Given the description of an element on the screen output the (x, y) to click on. 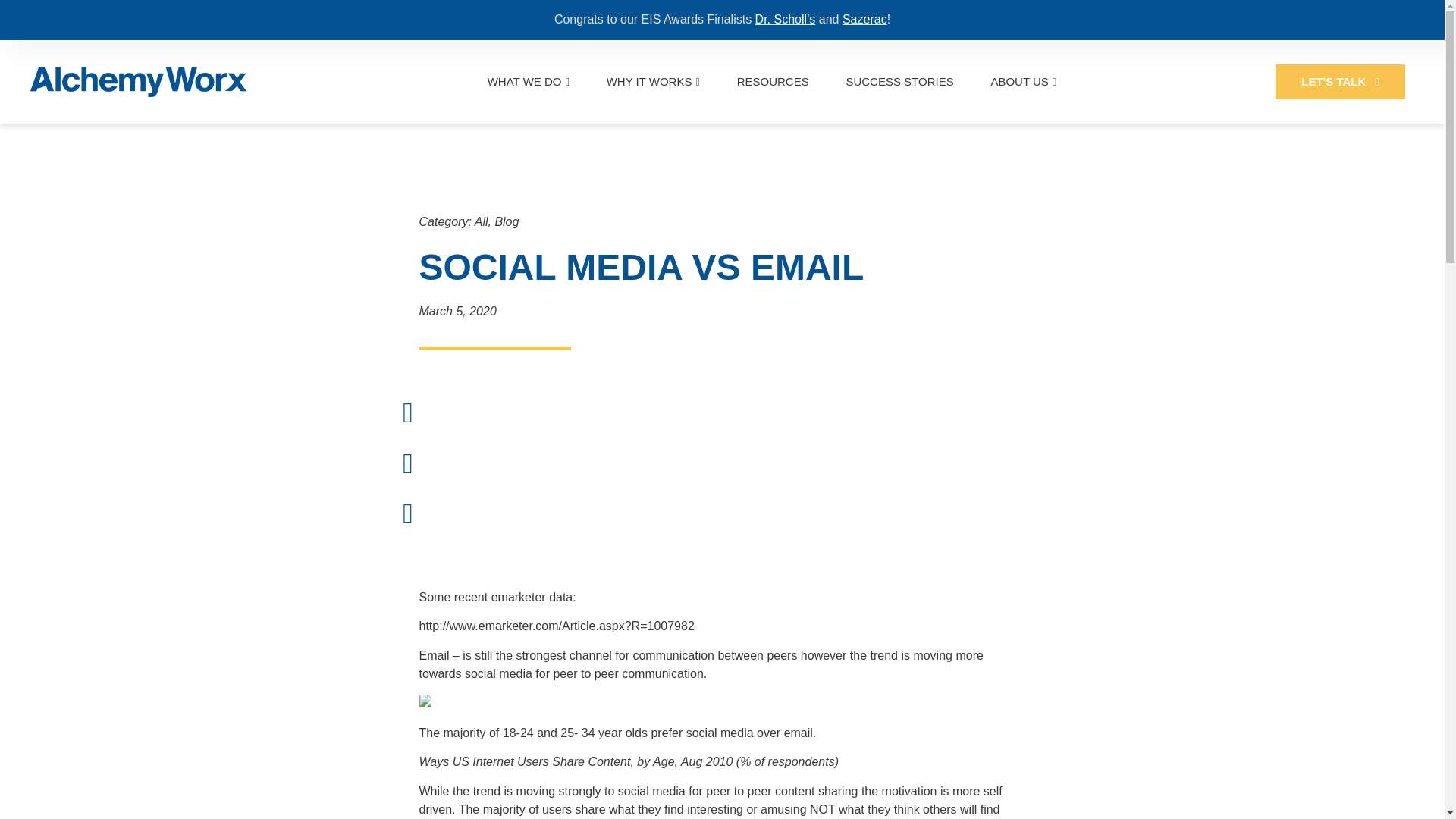
WHAT WE DO (528, 81)
WHY IT WORKS (653, 81)
ABOUT US (1023, 81)
Sazerac (864, 19)
SUCCESS STORIES (899, 81)
RESOURCES (772, 81)
